Given the description of an element on the screen output the (x, y) to click on. 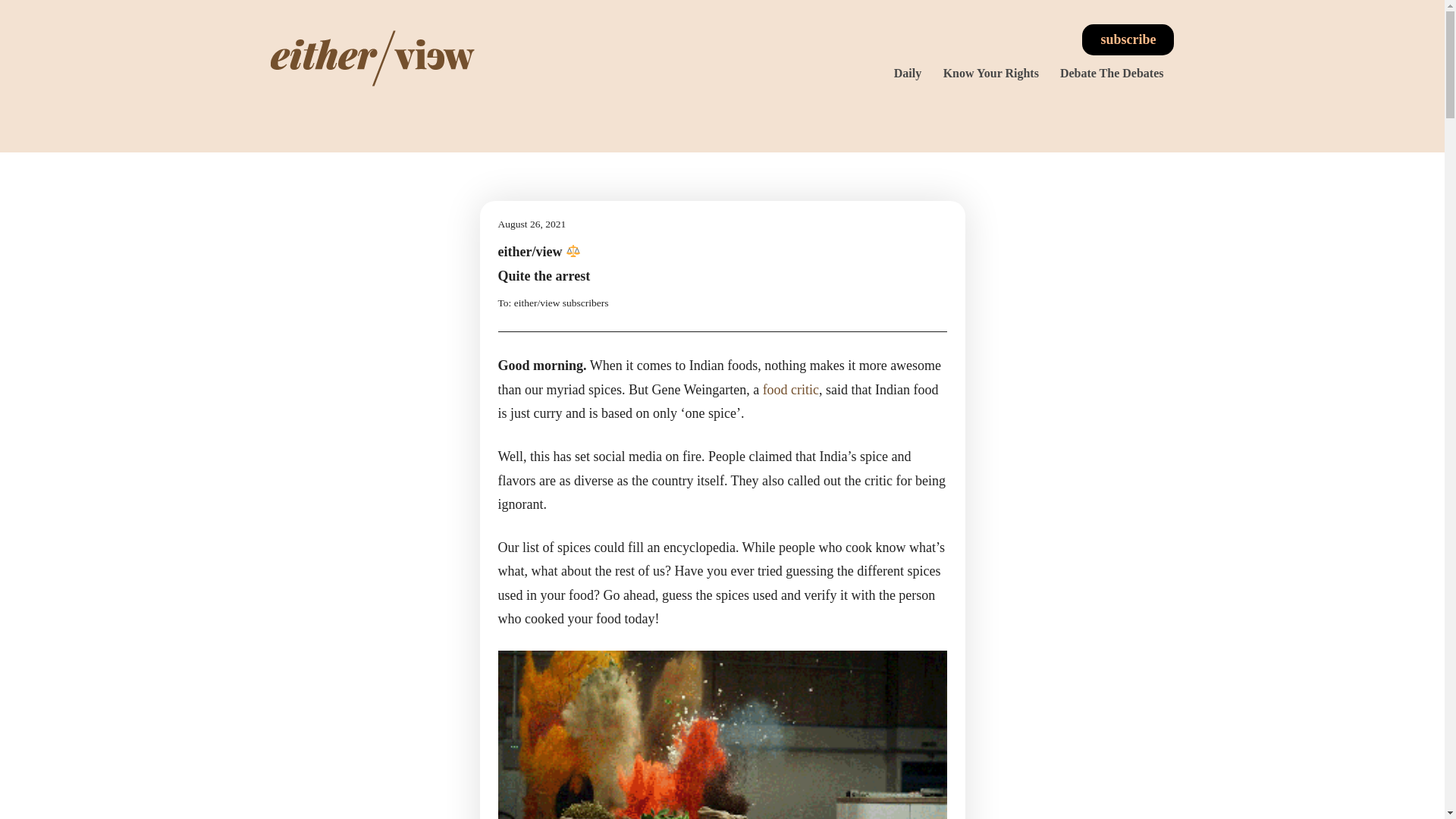
Daily (907, 73)
Know Your Rights (991, 73)
subscribe (1127, 39)
Subscribe (1127, 39)
food critic (790, 389)
Debate The Debates (1111, 73)
